Given the description of an element on the screen output the (x, y) to click on. 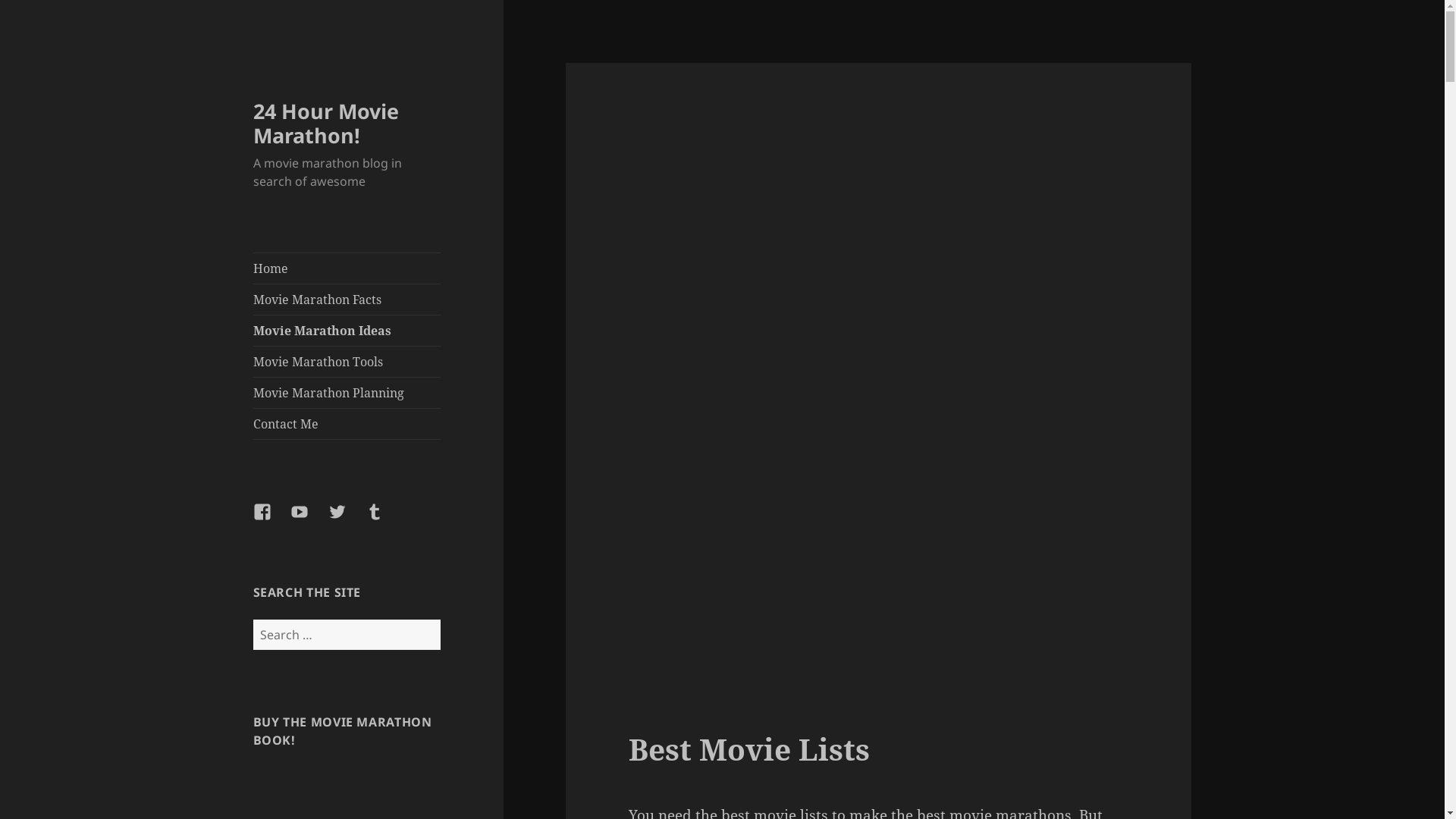
Facebook Element type: text (271, 520)
Search Element type: text (439, 618)
Movie Marathon Ideas Element type: text (347, 330)
Tumblr Element type: text (383, 520)
Contact Me Element type: text (347, 423)
Home Element type: text (347, 268)
Movie Marathon Facts Element type: text (347, 299)
Movie Marathon Planning Element type: text (347, 392)
24 Hour Movie Marathon! Element type: text (325, 123)
Movie Marathon Tools Element type: text (347, 361)
YouTube Element type: text (308, 520)
Twitter Element type: text (346, 520)
